Given the description of an element on the screen output the (x, y) to click on. 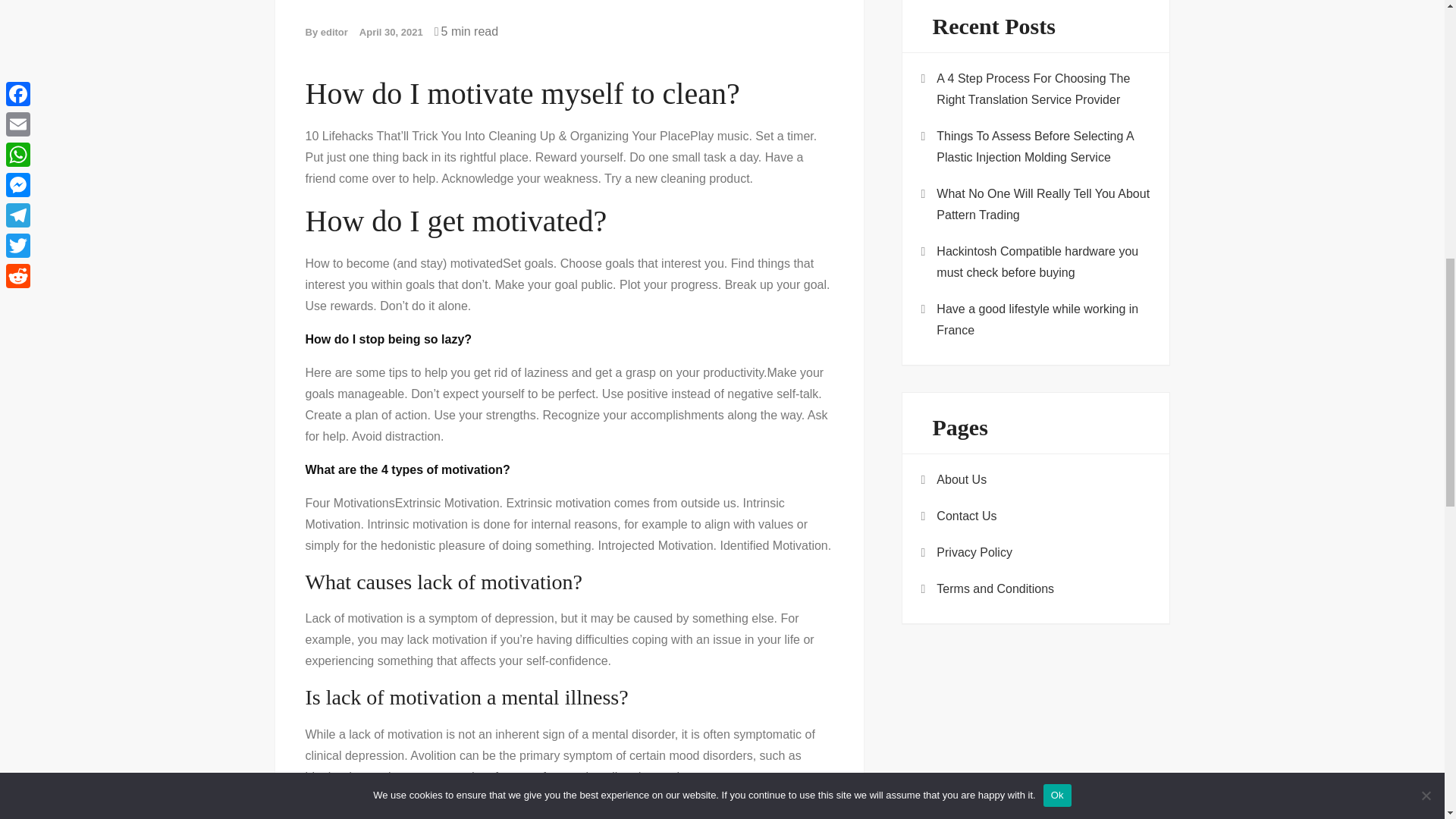
editor (333, 31)
Privacy Policy (973, 552)
April 30, 2021 (391, 31)
Have a good lifestyle while working in France (1043, 319)
What No One Will Really Tell You About Pattern Trading (1043, 204)
Terms and Conditions (995, 588)
Hackintosh Compatible hardware you must check before buying (1043, 261)
Contact Us (965, 516)
About Us (961, 479)
